Given the description of an element on the screen output the (x, y) to click on. 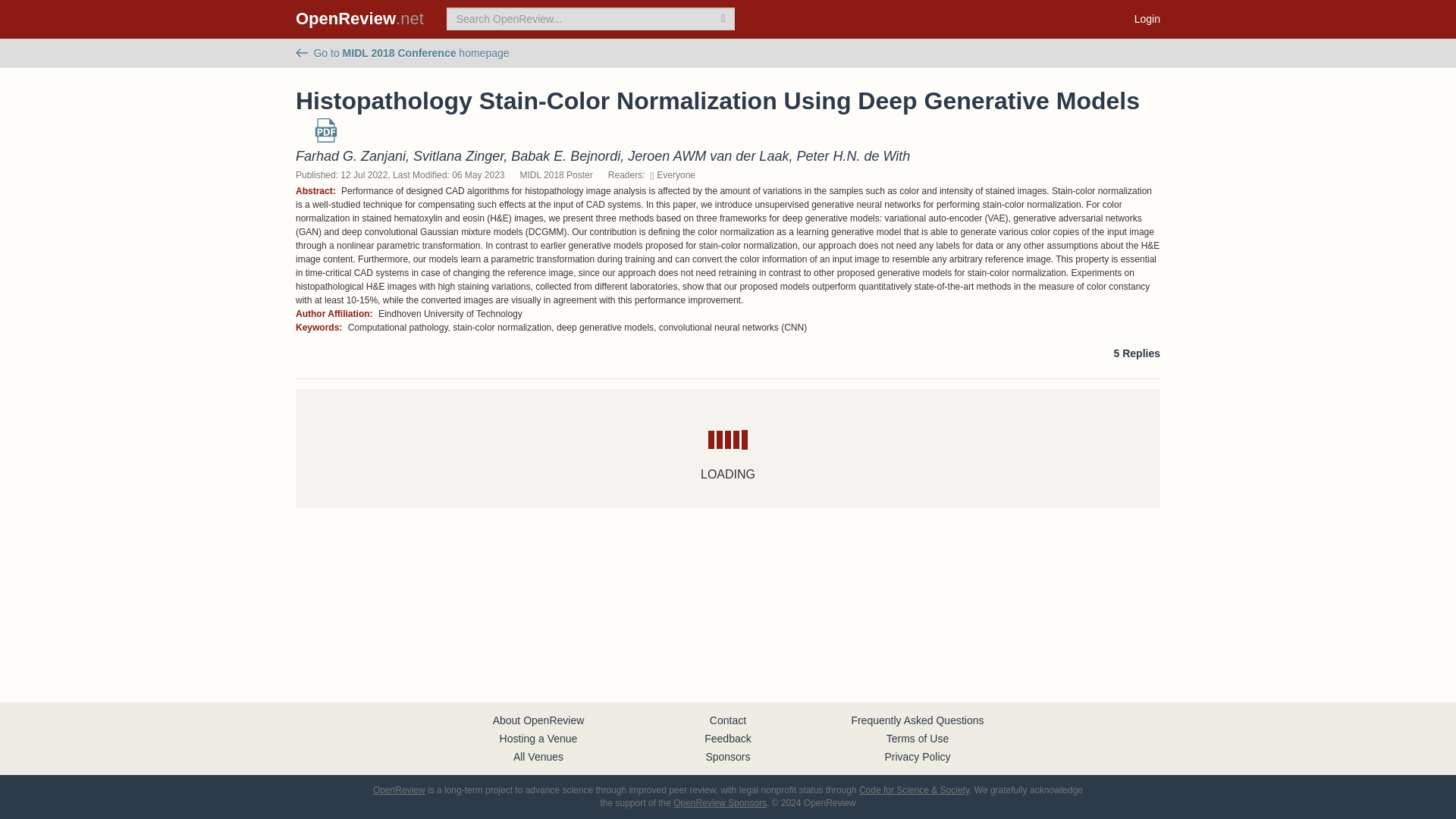
Contact (727, 720)
Svitlana Zinger (458, 155)
Farhad G. Zanjani (350, 155)
Sponsors (726, 756)
OpenReview (398, 789)
Jeroen AWM van der Laak (708, 155)
Terms of Use (917, 738)
Feedback (727, 738)
All Venues (538, 756)
OpenReview Sponsors (719, 802)
Download PDF (325, 136)
About OpenReview (539, 720)
Go to MIDL 2018 Conference homepage (402, 52)
Frequently Asked Questions (917, 720)
Hosting a Venue (538, 738)
